Given the description of an element on the screen output the (x, y) to click on. 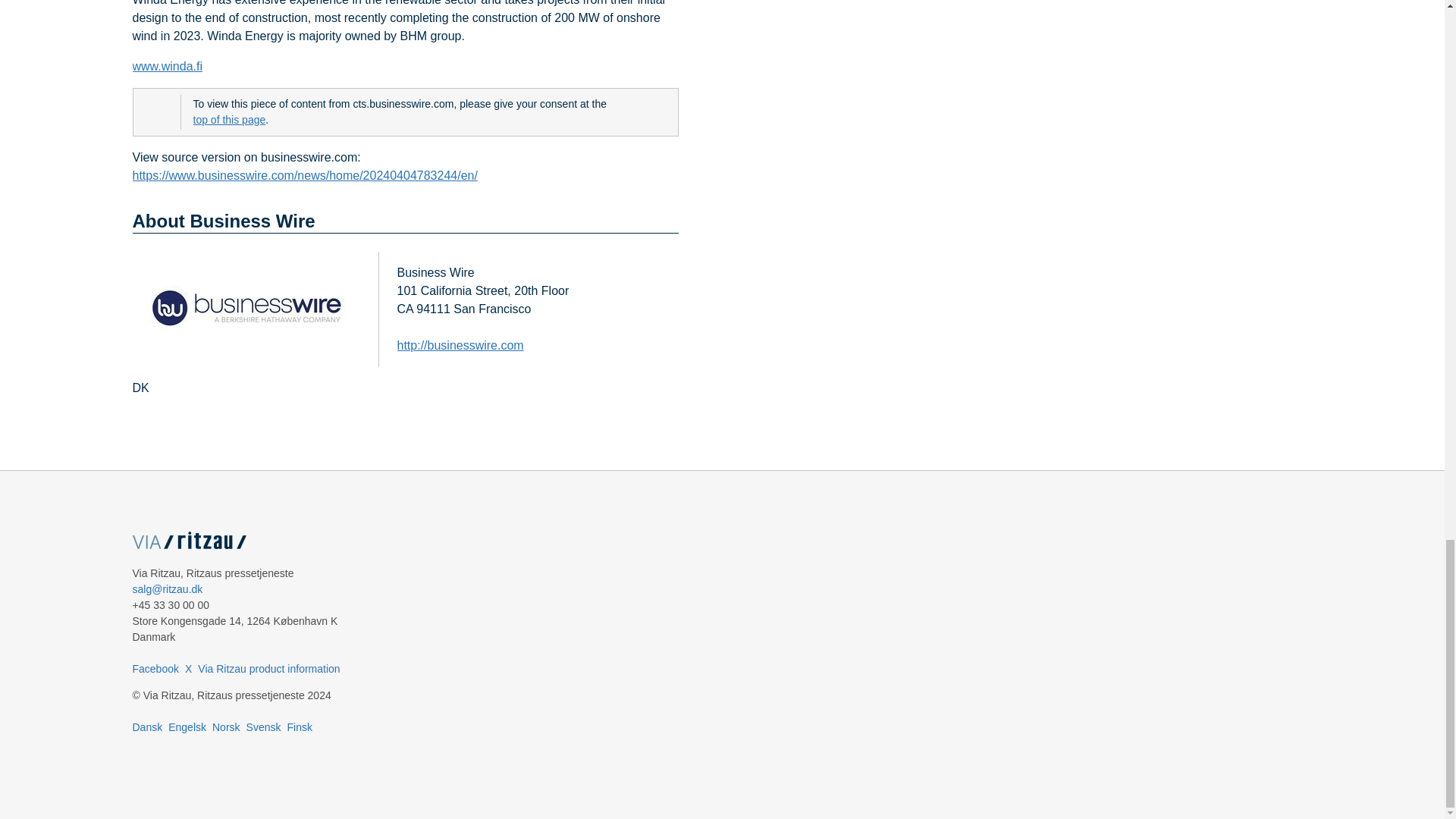
Svensk (263, 727)
Via Ritzau product information (268, 668)
Dansk (146, 727)
Facebook (154, 668)
Finsk (298, 727)
Engelsk (187, 727)
www.winda.fi (167, 66)
top of this page (228, 119)
Norsk (226, 727)
